Given the description of an element on the screen output the (x, y) to click on. 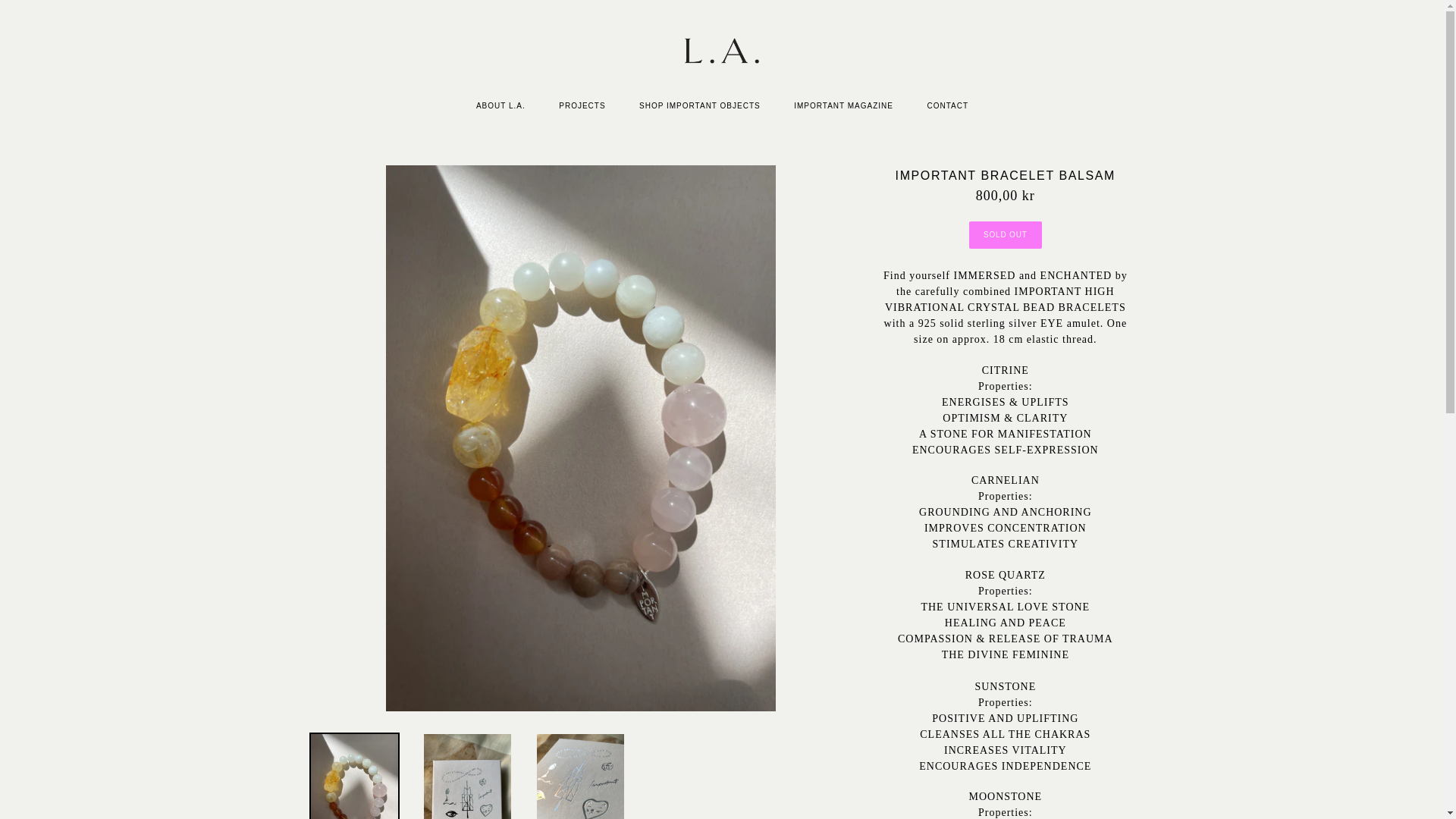
CONTACT (947, 106)
SHOP IMPORTANT OBJECTS (700, 106)
ABOUT L.A. (500, 106)
IMPORTANT MAGAZINE (843, 106)
SOLD OUT (1005, 234)
PROJECTS (581, 106)
